Given the description of an element on the screen output the (x, y) to click on. 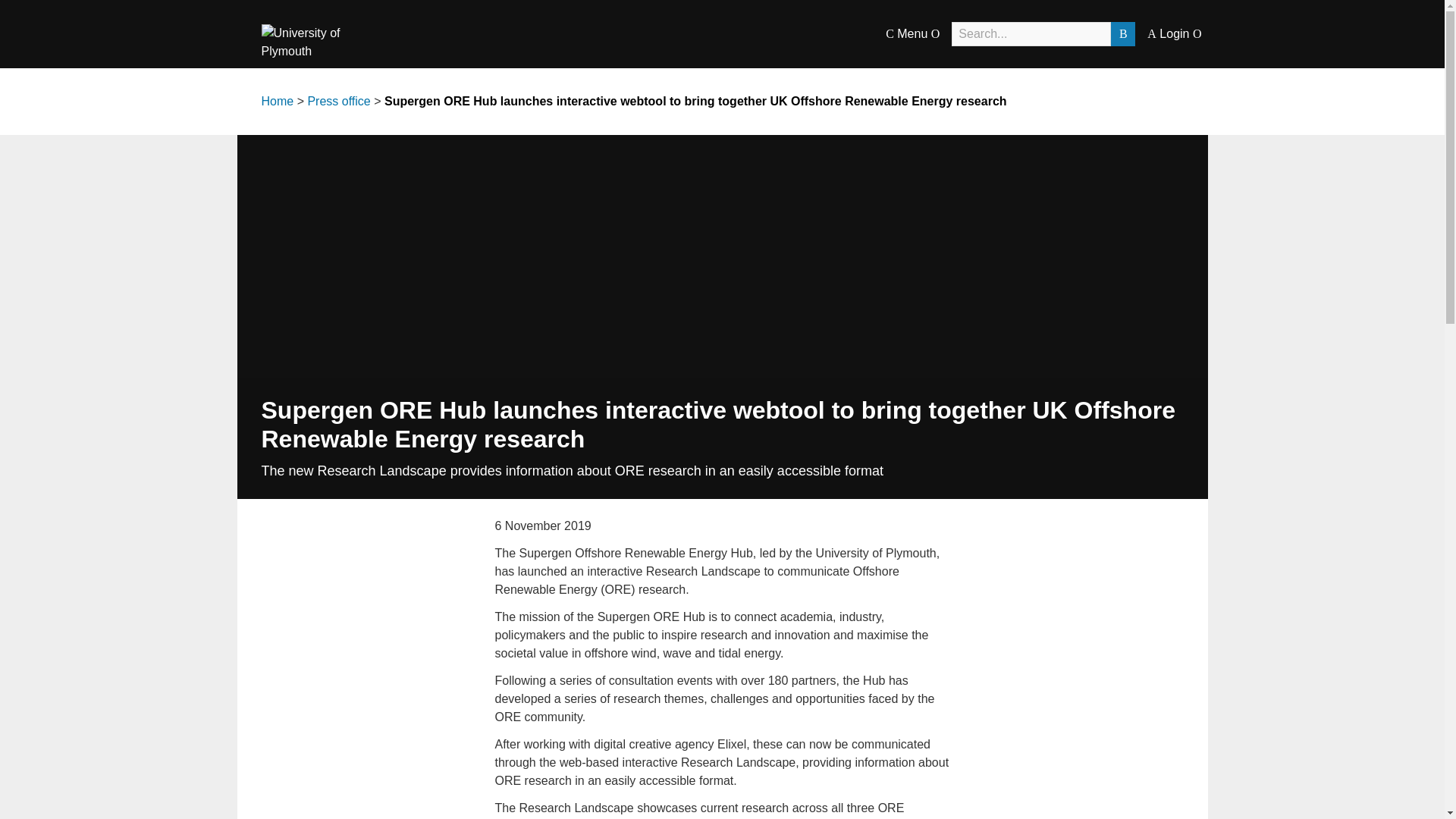
B (1122, 33)
A Login O (1174, 33)
C Menu O (911, 33)
